Given the description of an element on the screen output the (x, y) to click on. 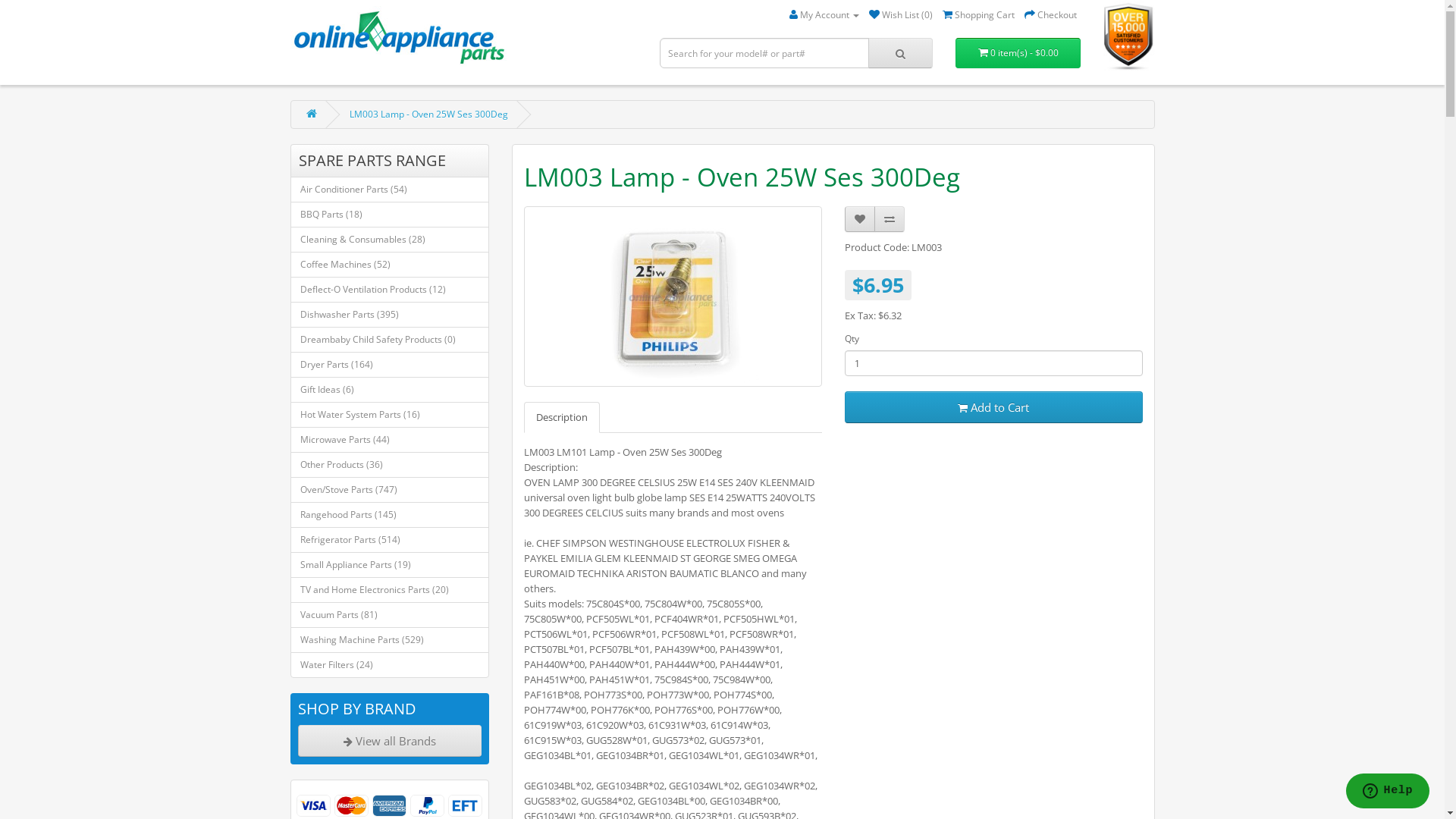
My Account Element type: text (824, 14)
Shopping Cart Element type: text (978, 14)
Small Appliance Parts (19) Element type: text (389, 564)
Description Element type: text (561, 417)
Oven/Stove Parts (747) Element type: text (389, 489)
BBQ Parts (18) Element type: text (389, 214)
Rangehood Parts (145) Element type: text (389, 514)
Refrigerator Parts (514) Element type: text (389, 539)
Vacuum Parts (81) Element type: text (389, 614)
Coffee Machines (52) Element type: text (389, 264)
LM003 Lamp - Oven 25W Ses 300Deg Element type: text (427, 113)
0 item(s) - $0.00 Element type: text (1017, 52)
TV and Home Electronics Parts (20) Element type: text (389, 589)
Microwave Parts (44) Element type: text (389, 439)
Wish List (0) Element type: text (900, 14)
Other Products (36) Element type: text (389, 464)
Add to Cart Element type: text (993, 407)
View all Brands Element type: text (389, 740)
Water Filters (24) Element type: text (389, 664)
Dishwasher Parts (395) Element type: text (389, 314)
Checkout Element type: text (1050, 14)
Air Conditioner Parts (54) Element type: text (389, 189)
Online Appliance Parts Element type: hover (397, 38)
Dreambaby Child Safety Products (0) Element type: text (389, 339)
Dryer Parts (164) Element type: text (389, 364)
Opens a widget where you can chat to one of our agents Element type: hover (1387, 792)
Deflect-O Ventilation Products (12) Element type: text (389, 289)
Hot Water System Parts (16) Element type: text (389, 414)
Gift Ideas (6) Element type: text (389, 389)
Washing Machine Parts (529) Element type: text (389, 639)
Satisfied Customers Element type: hover (1128, 35)
Cleaning & Consumables (28) Element type: text (389, 239)
